Given the description of an element on the screen output the (x, y) to click on. 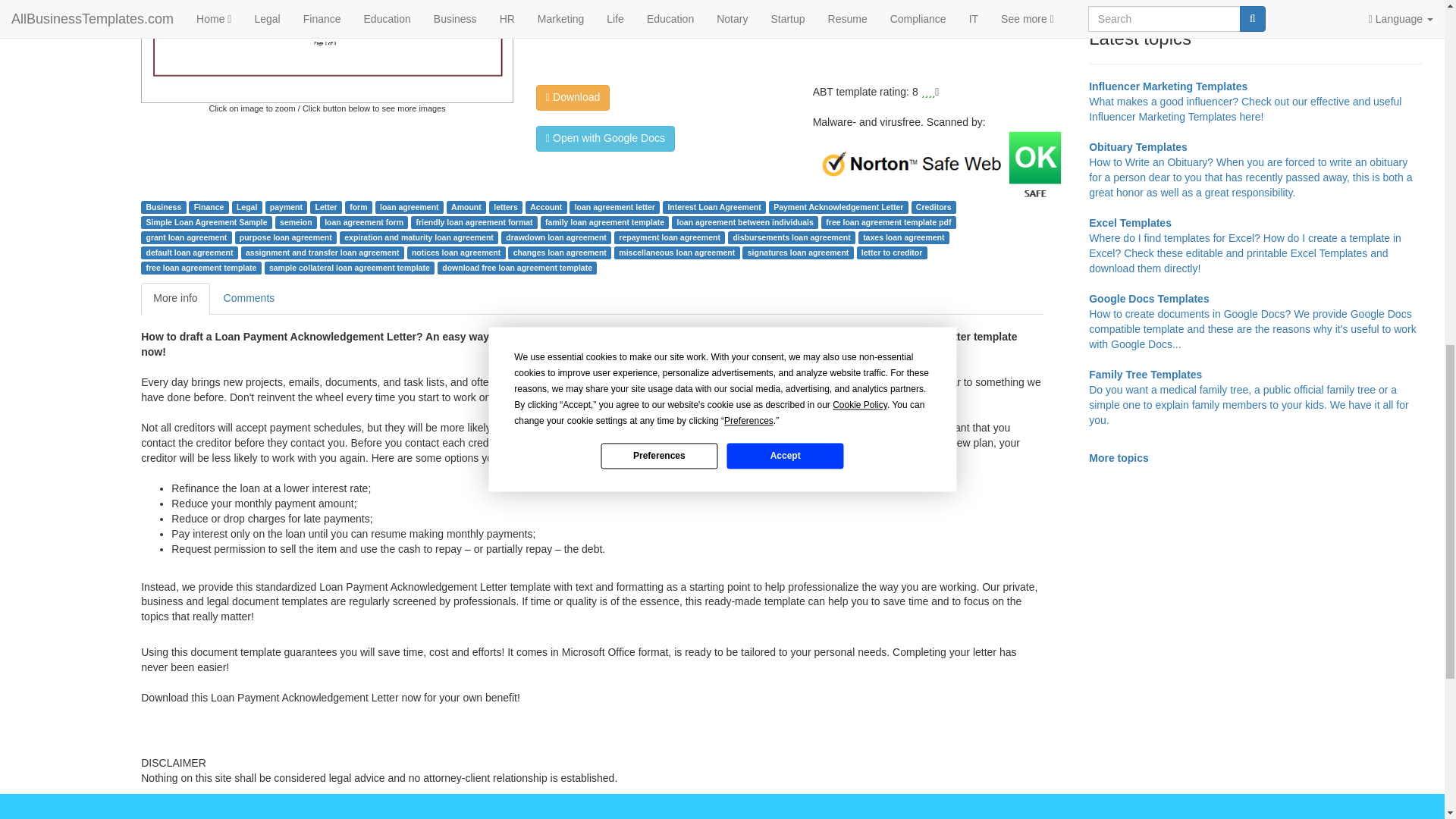
Finance (208, 206)
Legal (246, 206)
Download (572, 97)
payment (285, 206)
Letter (325, 206)
Open with Google Docs (605, 138)
Business (164, 206)
